Given the description of an element on the screen output the (x, y) to click on. 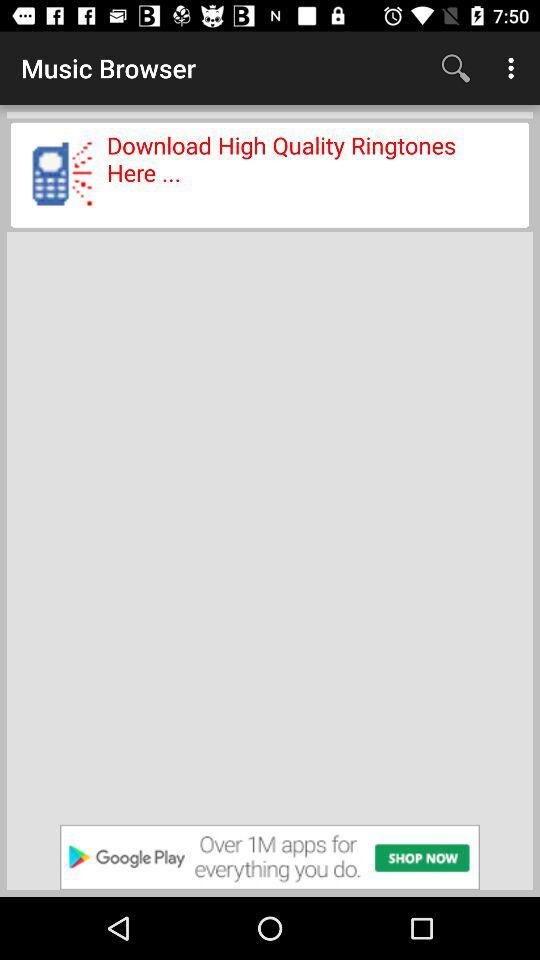
go to advertisement website (270, 857)
